Given the description of an element on the screen output the (x, y) to click on. 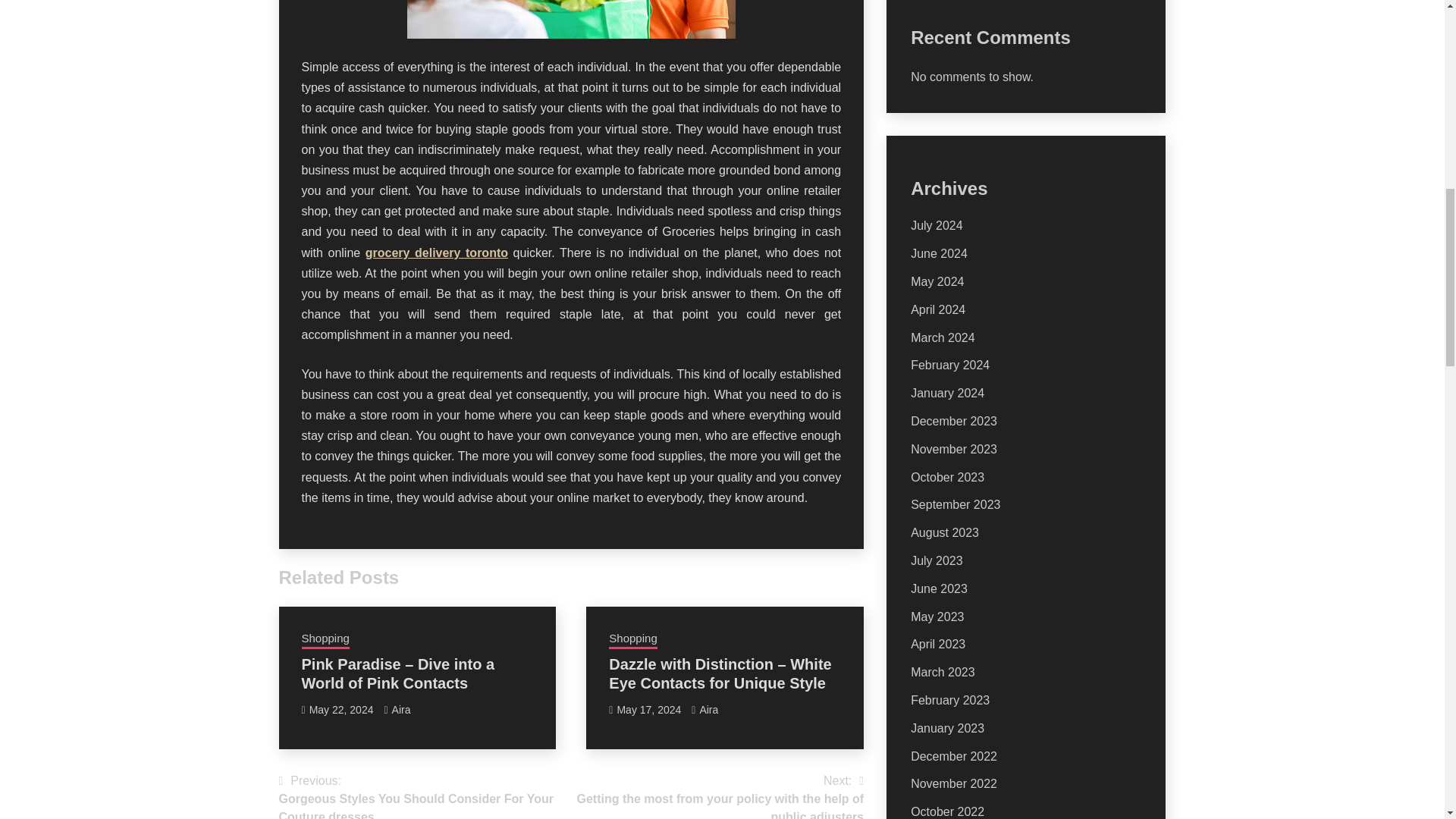
grocery delivery toronto (436, 252)
June 2024 (939, 253)
Aira (707, 709)
May 17, 2024 (648, 709)
Aira (400, 709)
Shopping (632, 639)
March 2024 (943, 337)
Shopping (325, 639)
July 2024 (936, 225)
April 2024 (938, 309)
May 2024 (937, 281)
February 2024 (950, 364)
May 22, 2024 (341, 709)
